Given the description of an element on the screen output the (x, y) to click on. 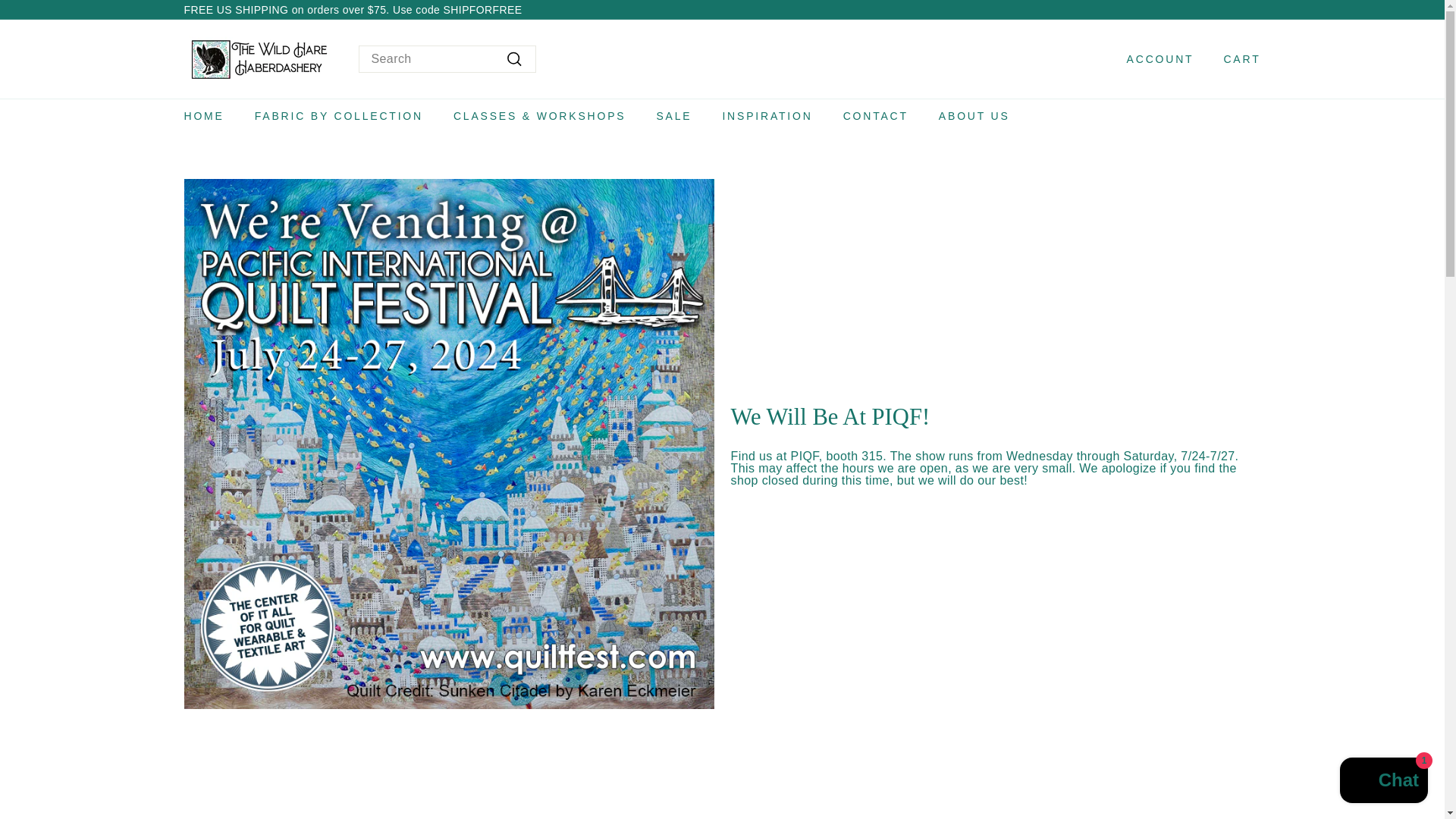
ACCOUNT (1155, 58)
Shopify online store chat (1383, 781)
CART (1235, 58)
